Given the description of an element on the screen output the (x, y) to click on. 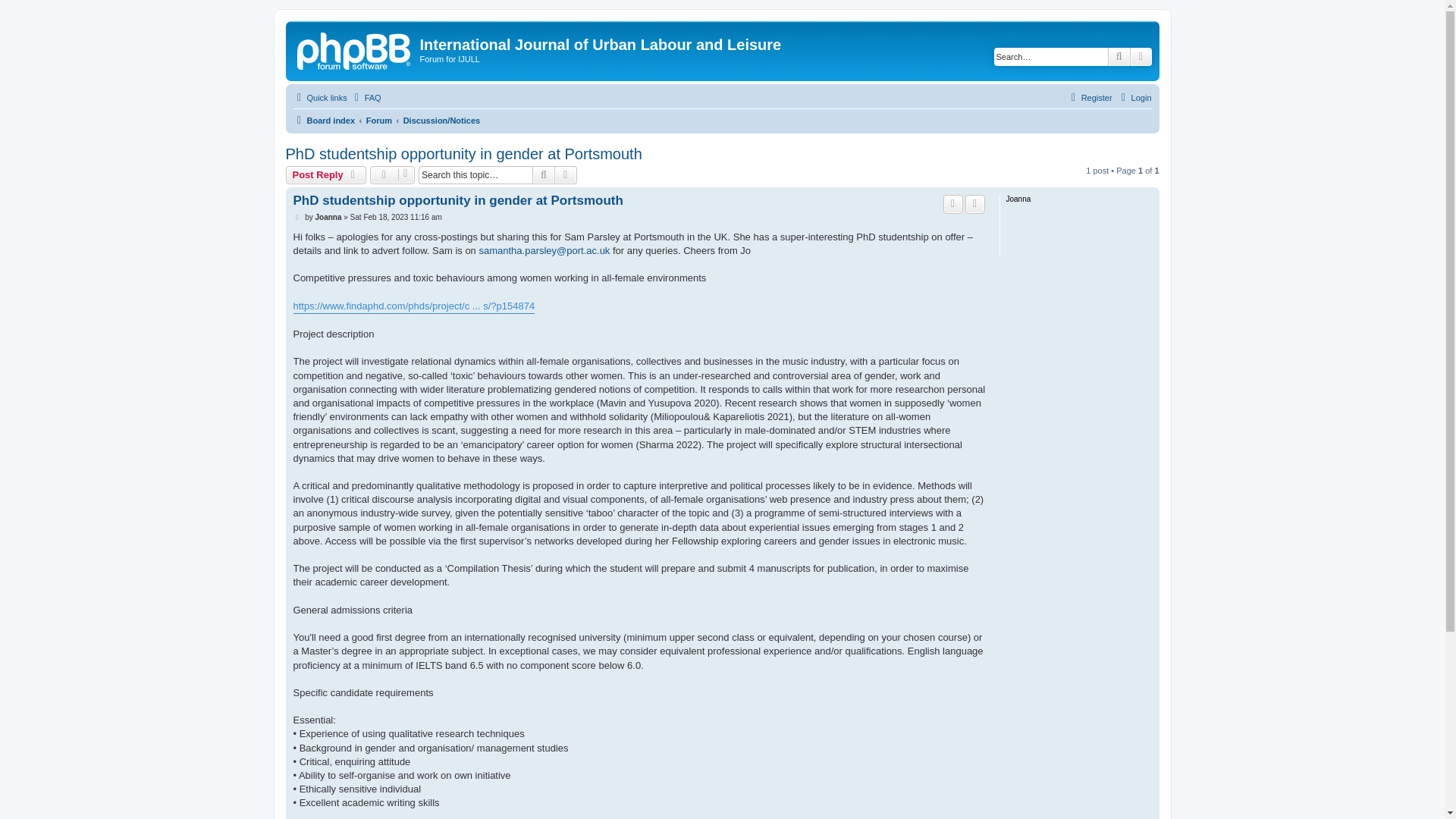
Topic tools (391, 175)
Forum (378, 120)
PhD studentship opportunity in gender at Portsmouth (463, 153)
Advanced search (1141, 56)
Search (1119, 56)
Frequently Asked Questions (365, 97)
Advanced search (1141, 56)
Login (1134, 97)
Quick links (319, 97)
Advanced search (565, 175)
